Given the description of an element on the screen output the (x, y) to click on. 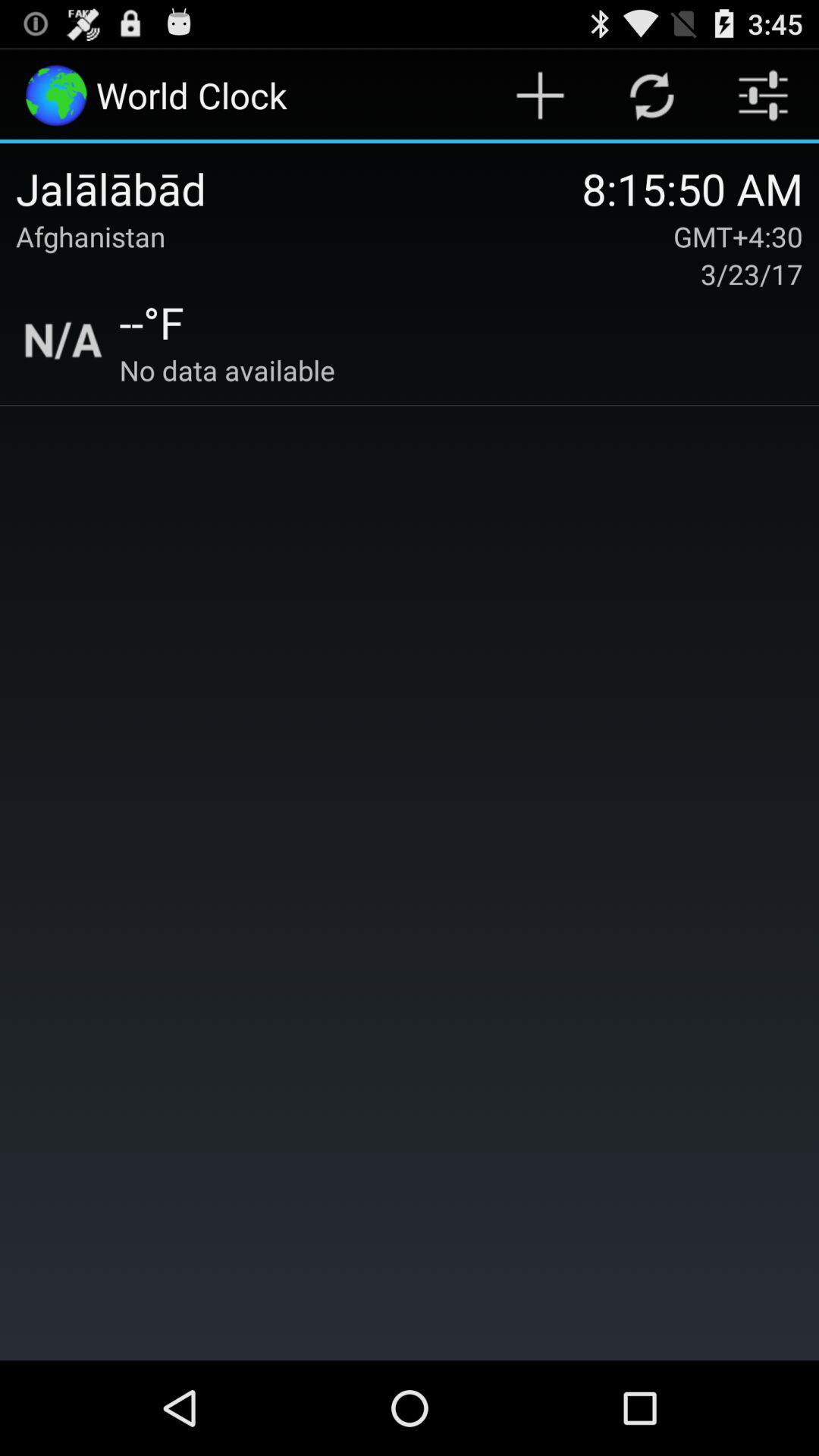
select the icon next to the 8 15 50 icon (298, 188)
